Given the description of an element on the screen output the (x, y) to click on. 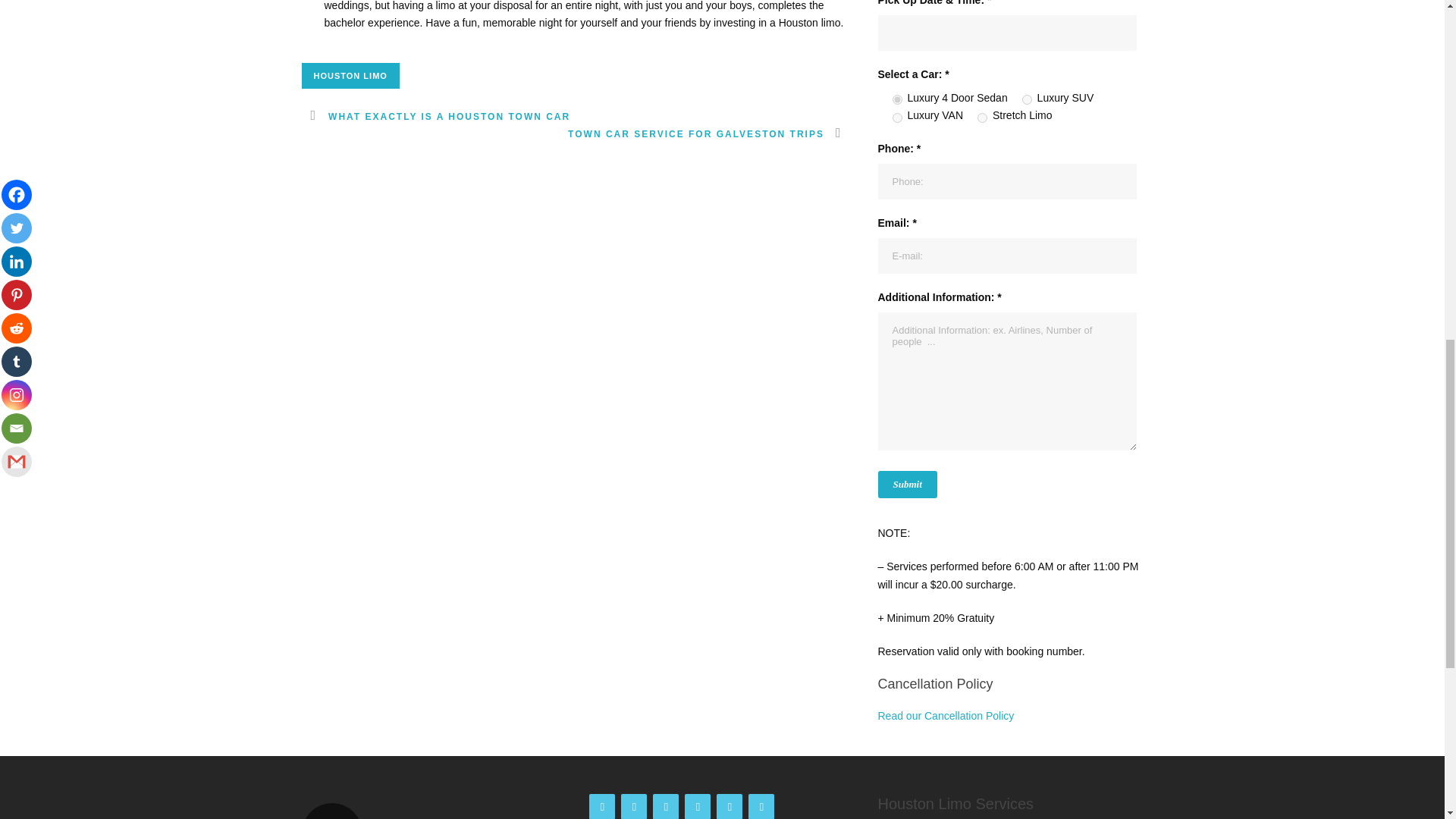
Luxury SUV (1027, 99)
Facebook (601, 806)
Twitter (633, 806)
Luxury VAN (896, 117)
Submit (907, 483)
Stretch Limo (981, 117)
Luxury 4 Door Sedan (896, 99)
